Given the description of an element on the screen output the (x, y) to click on. 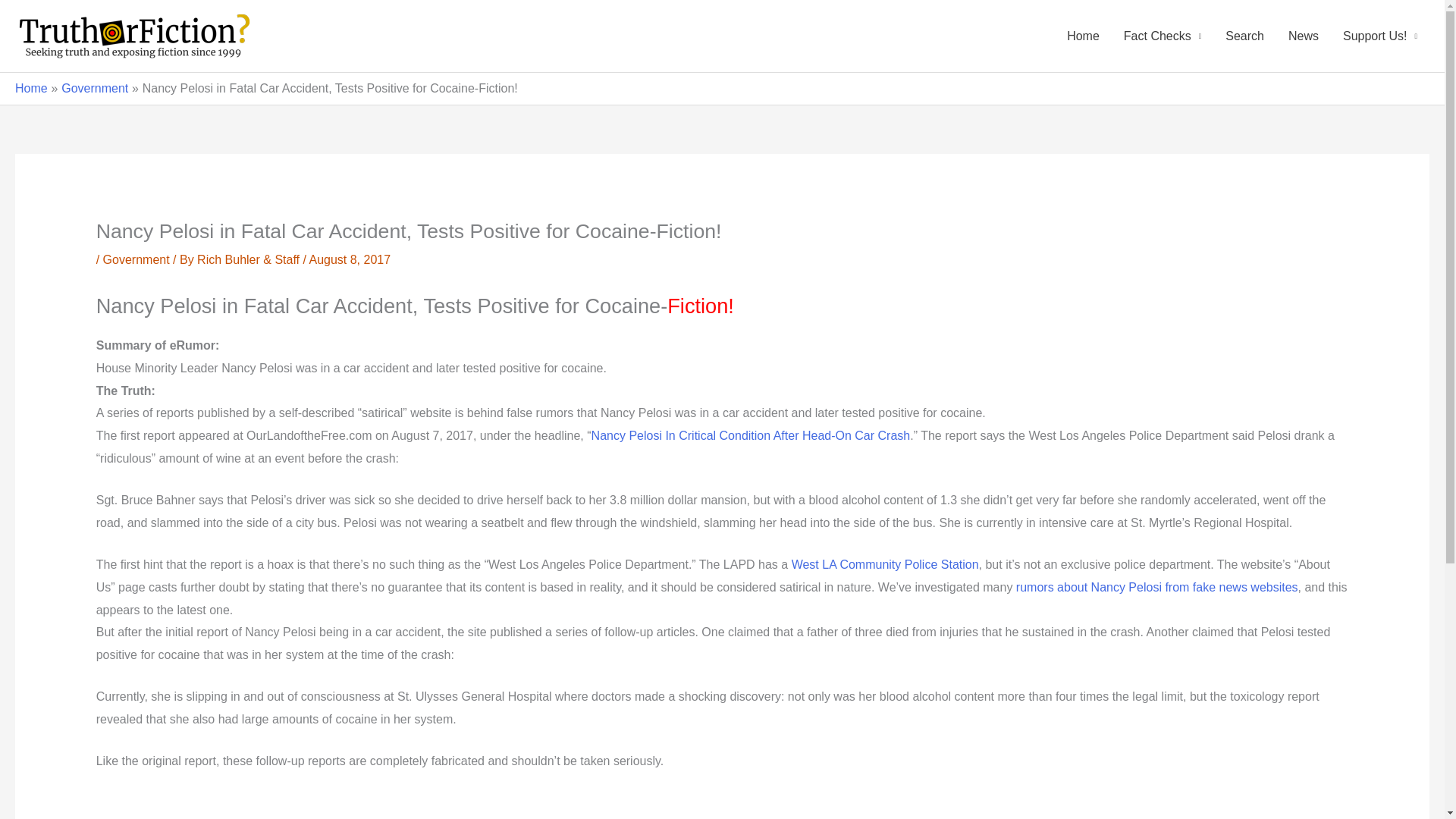
rumors about Nancy Pelosi from fake news websites (1157, 586)
Fact Checks (1162, 36)
West LA Community Police Station (885, 563)
Home (31, 88)
Nancy Pelosi In Critical Condition After Head-On Car Crash (751, 435)
Government (136, 259)
Government (94, 88)
Support Us! (1379, 36)
